Given the description of an element on the screen output the (x, y) to click on. 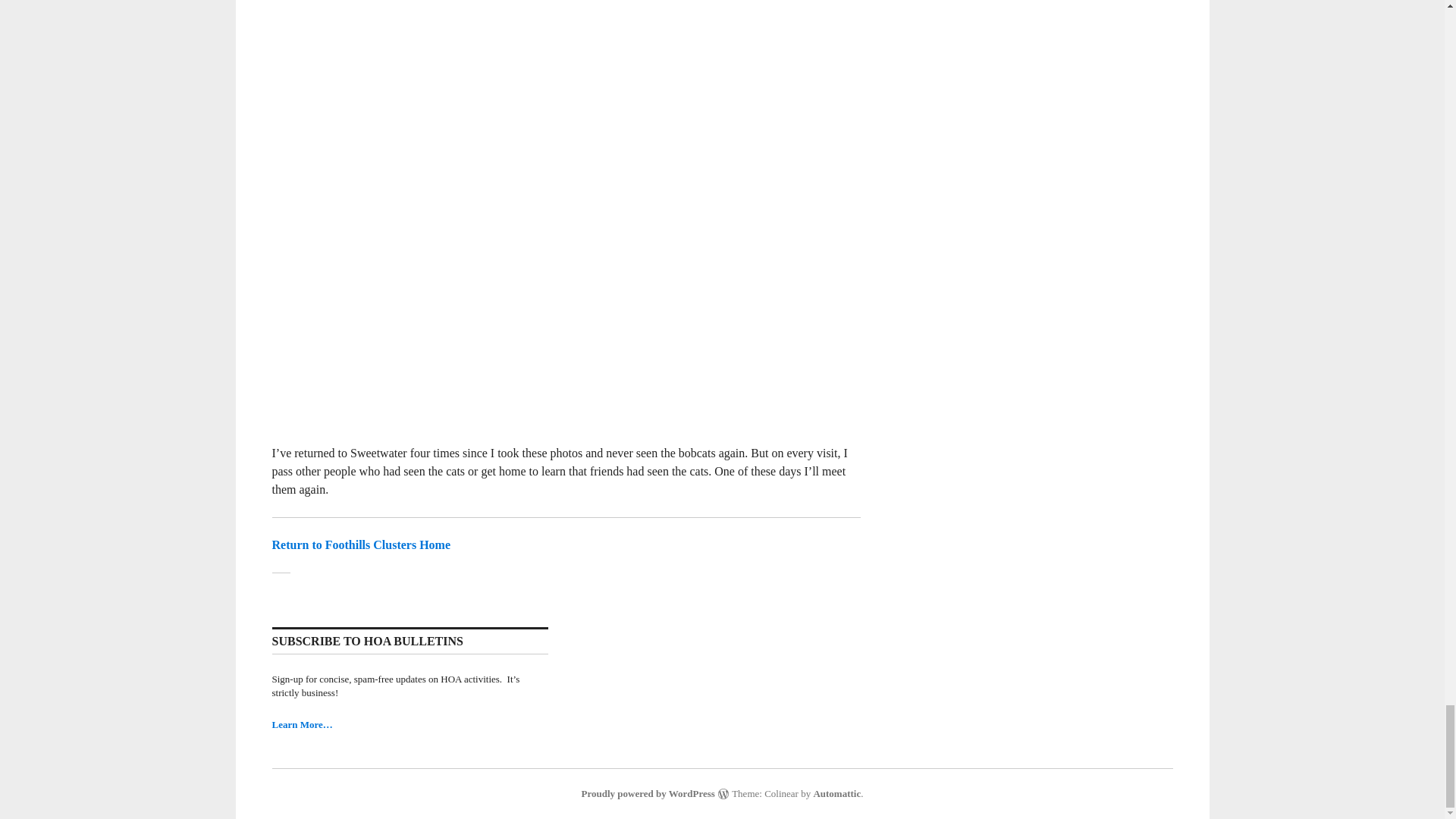
Automattic (836, 793)
Return to Foothills Clusters Home (359, 544)
Proudly powered by WordPress (647, 793)
